Given the description of an element on the screen output the (x, y) to click on. 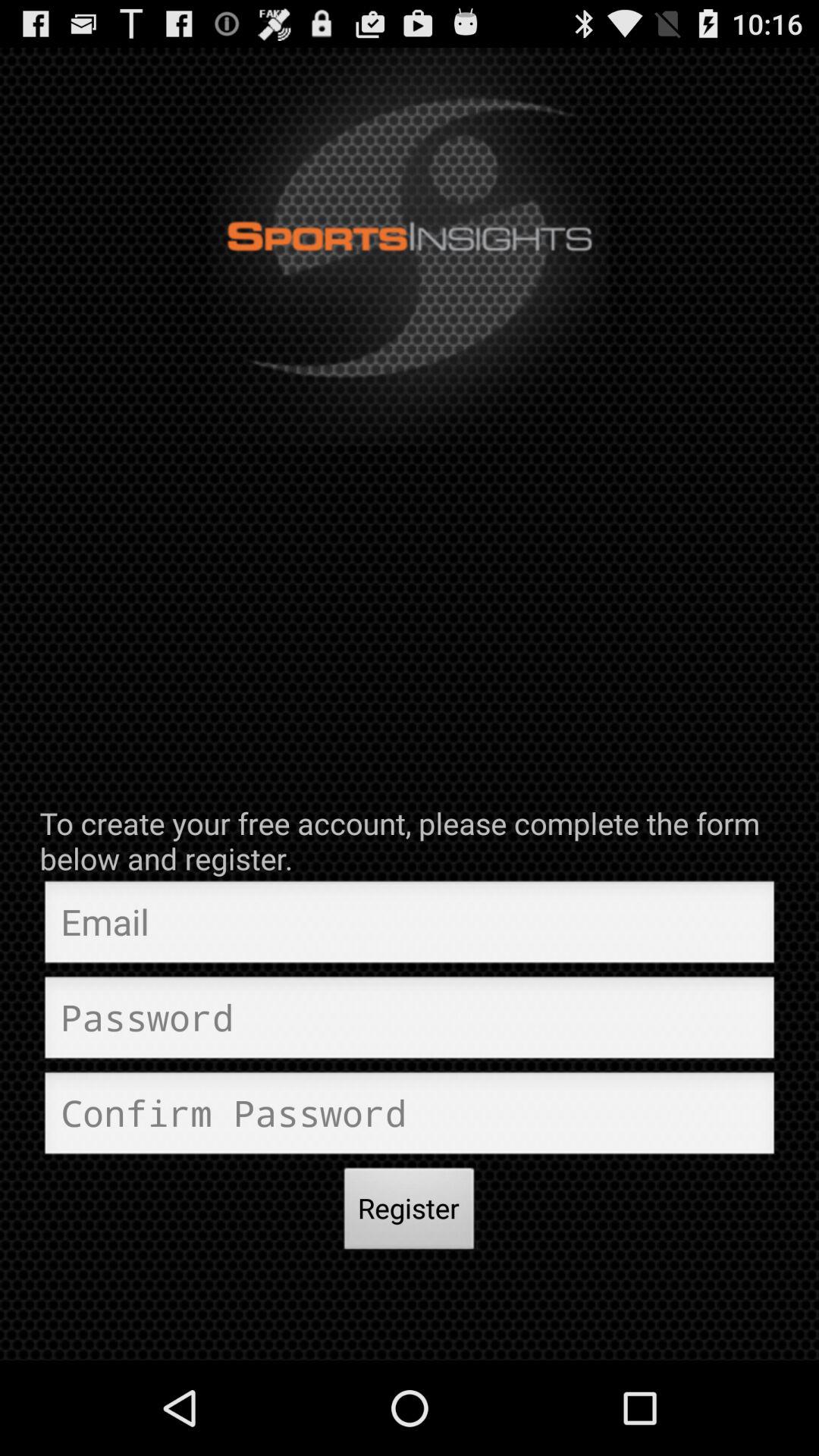
confirm password (409, 1117)
